Given the description of an element on the screen output the (x, y) to click on. 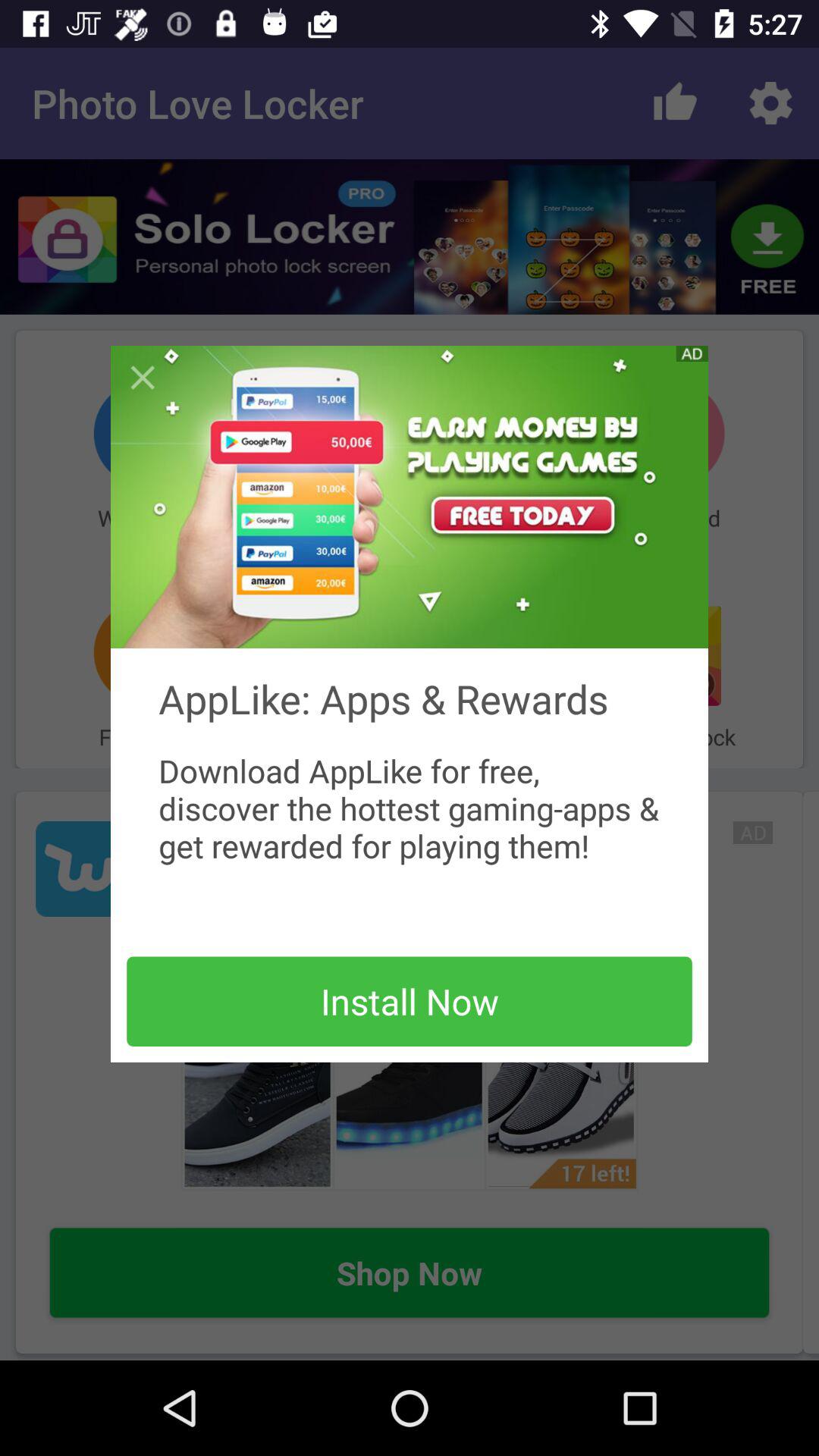
he can activate the simple voice command (142, 377)
